Given the description of an element on the screen output the (x, y) to click on. 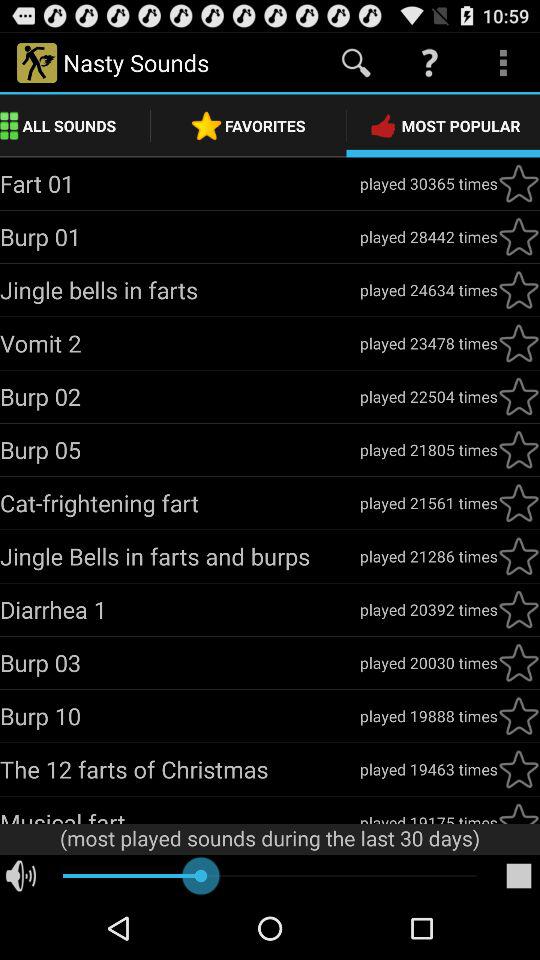
add this sound to your favorites (519, 769)
